Given the description of an element on the screen output the (x, y) to click on. 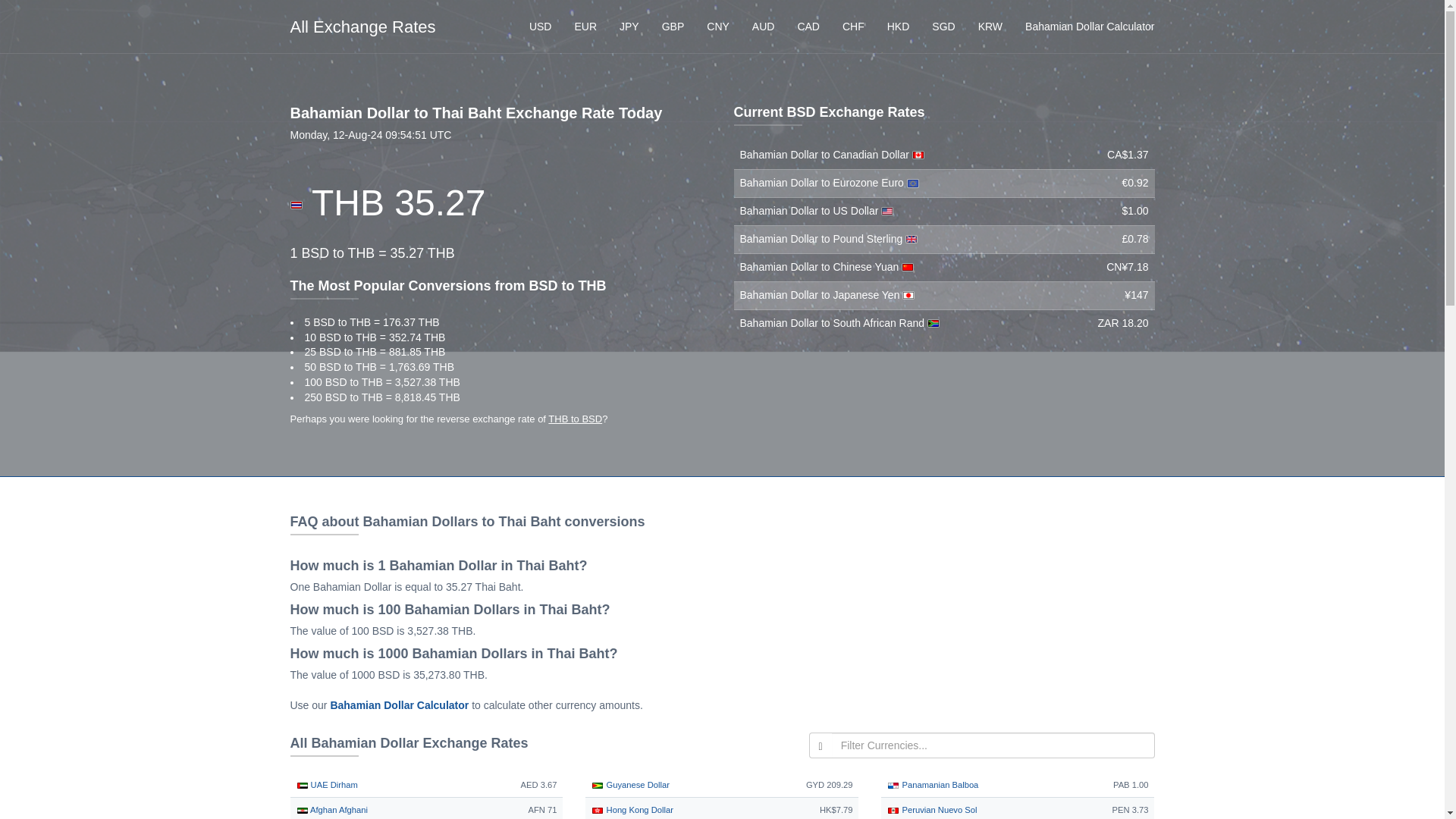
Bahamian Dollar to US Dollar (810, 210)
CHF (853, 26)
Bahamian Dollar to Eurozone Euro (823, 182)
Bahamian Dollar Calculator (399, 705)
THB to BSD (575, 419)
Bahamian Dollar Calculator (1089, 26)
Bahamian Dollar to Pound Sterling (822, 238)
AUD (763, 26)
UAE Dirham (325, 784)
Bahamian Dollar to South African Rand (833, 322)
